Given the description of an element on the screen output the (x, y) to click on. 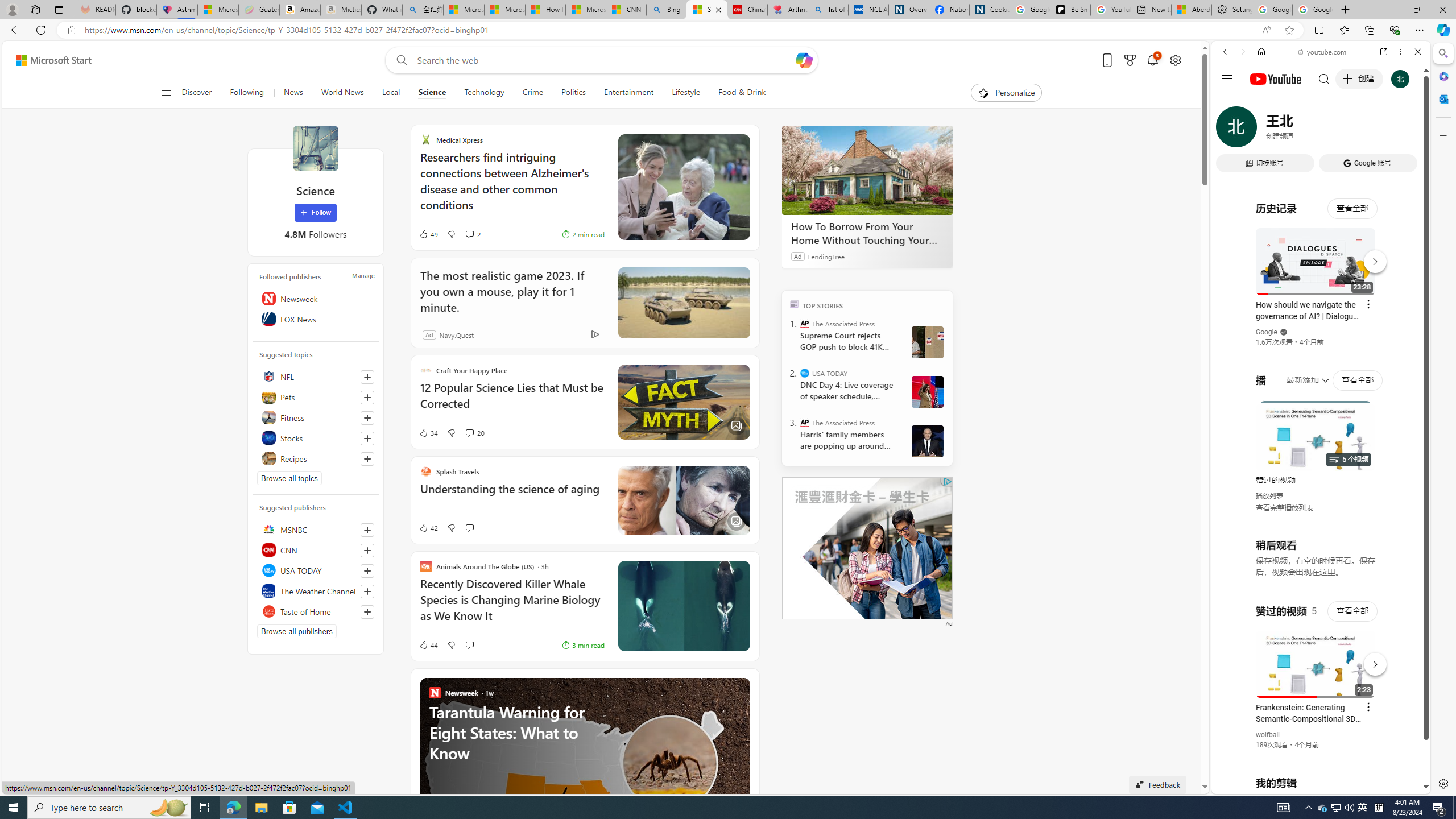
Politics (573, 92)
View comments 20 Comment (469, 432)
View site information (70, 29)
CNN (315, 549)
Settings (1231, 9)
Music (1320, 309)
Open navigation menu (164, 92)
Crime (532, 92)
Personalize (1006, 92)
